Given the description of an element on the screen output the (x, y) to click on. 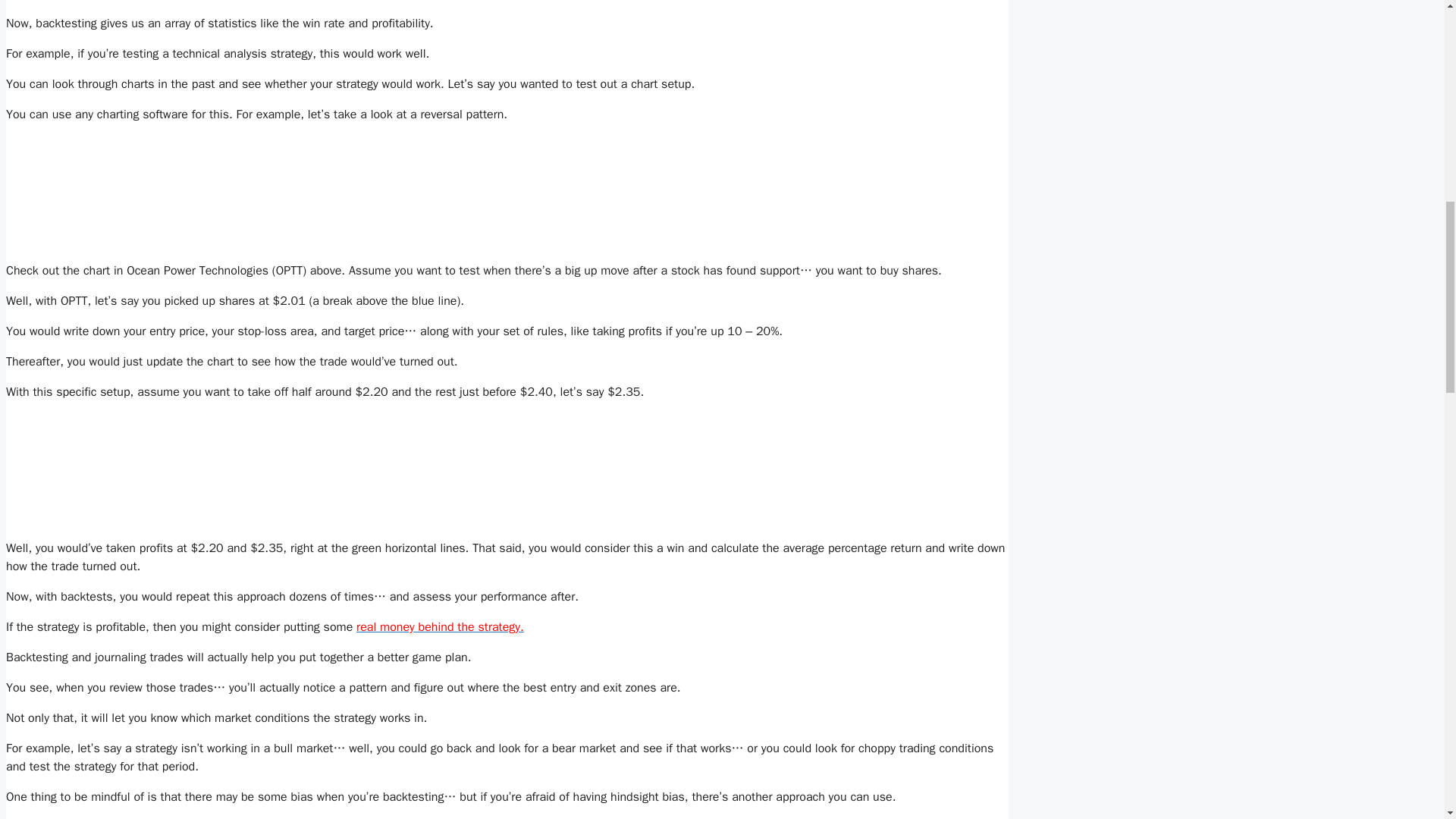
Image (228, 470)
Image (228, 192)
real money behind the strategy. (440, 626)
